Given the description of an element on the screen output the (x, y) to click on. 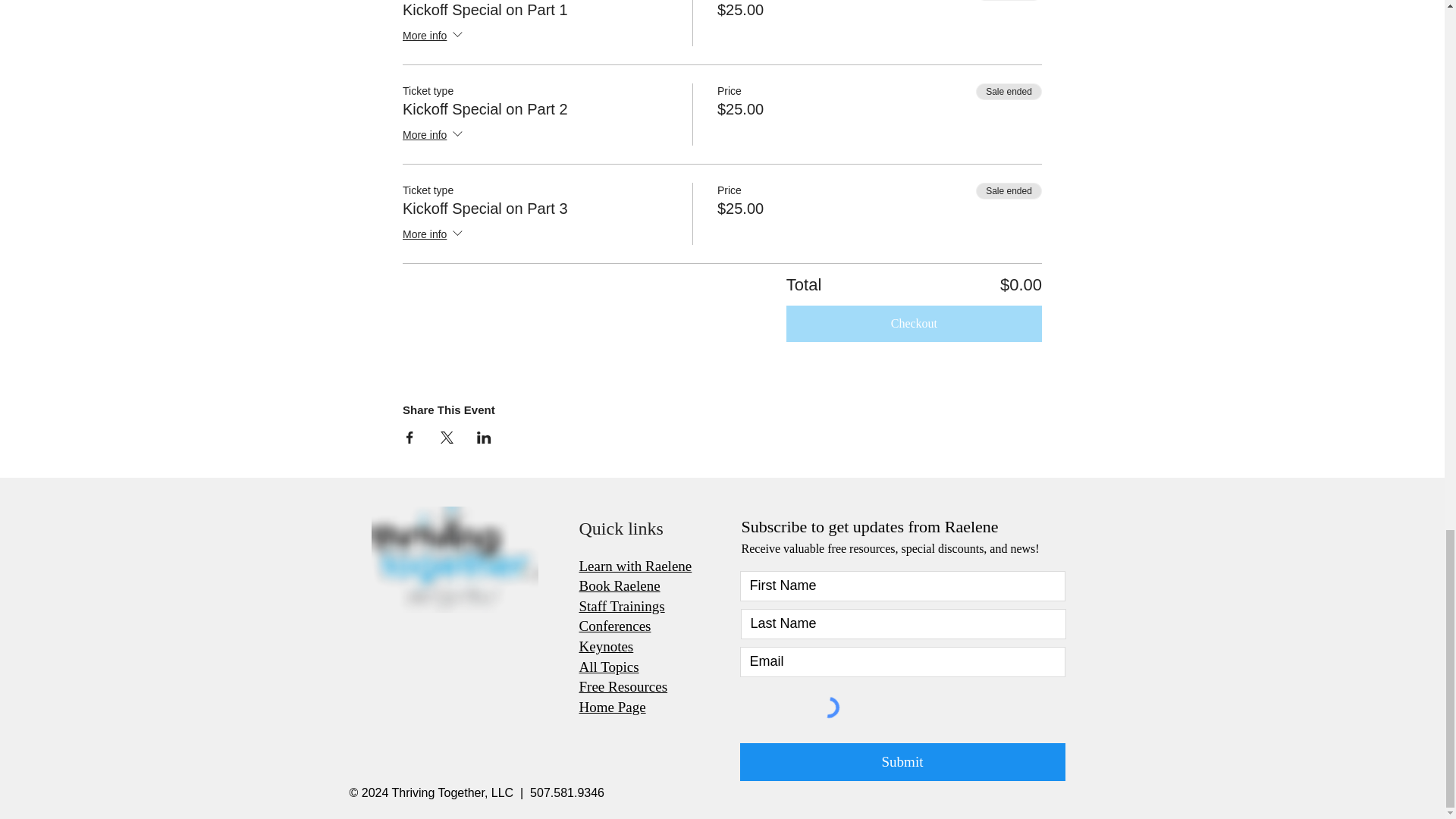
Keynotes (606, 646)
Conferences (614, 625)
Checkout (914, 323)
More info (434, 234)
Staff Trainings (622, 606)
Learn with Raelene (636, 565)
More info (434, 35)
More info (434, 135)
Book Raelene (620, 585)
